Given the description of an element on the screen output the (x, y) to click on. 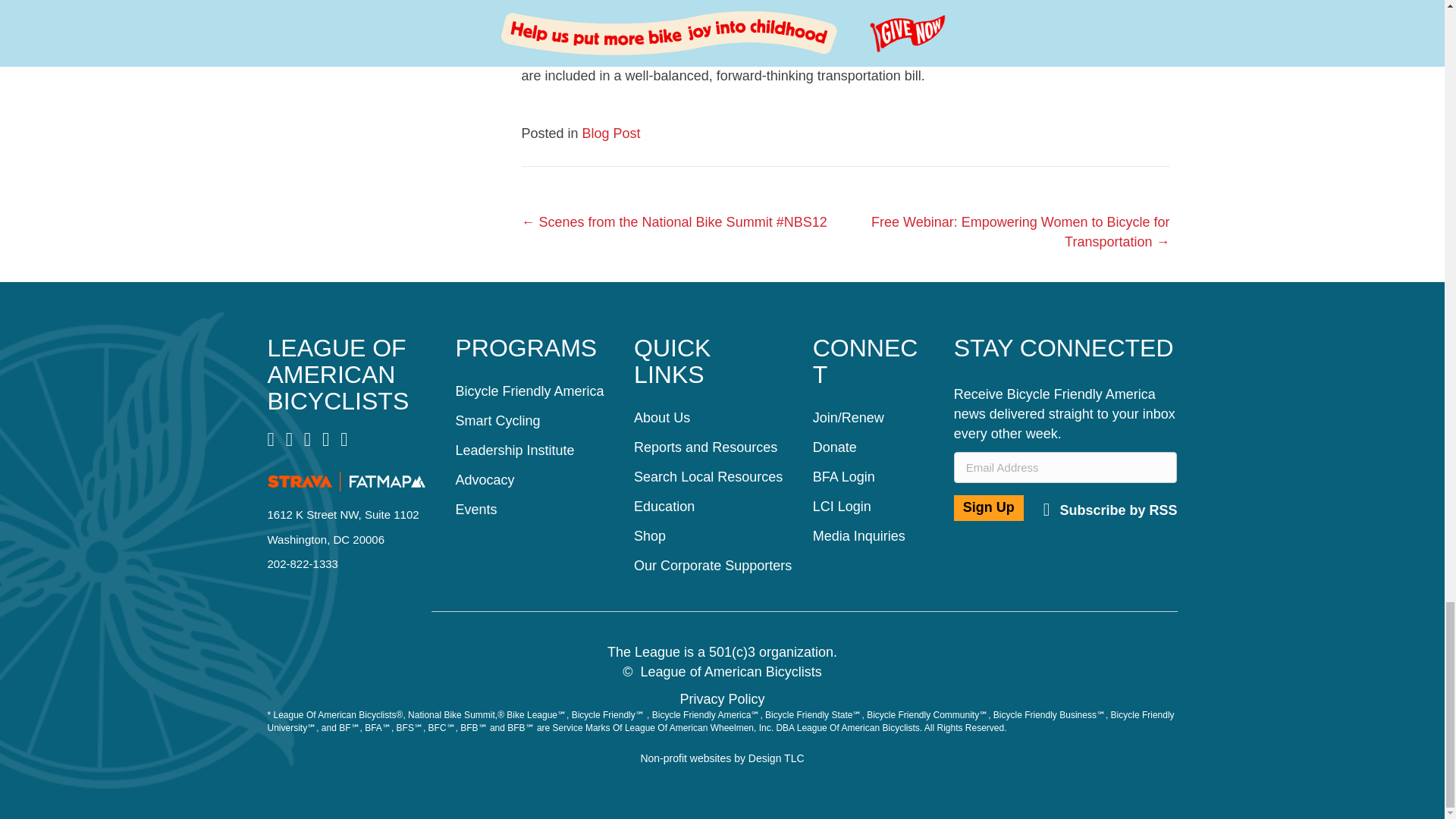
League of American Bicyclists (337, 374)
Strava-FATMAP-OrangeWhite-RGB (345, 481)
Sign Up (988, 507)
Click Here (1110, 509)
